Given the description of an element on the screen output the (x, y) to click on. 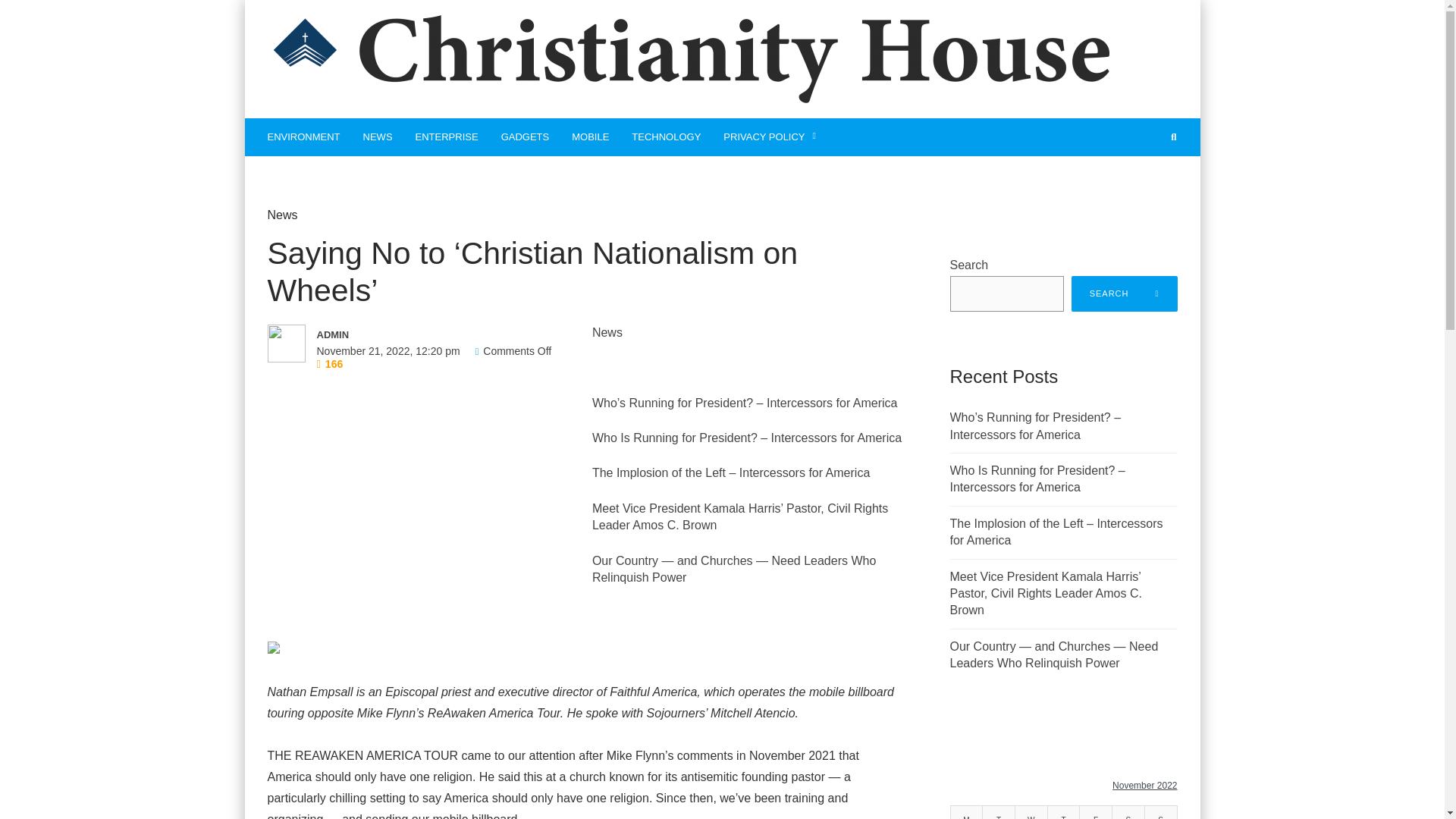
View all posts by admin (422, 334)
Views (330, 363)
Wednesday (1030, 812)
Friday (1096, 812)
Monday (966, 812)
PRIVACY POLICY (770, 136)
SEARCH (1124, 294)
Thursday (1063, 812)
Tuesday (998, 812)
ADMIN (422, 334)
NEWS (378, 136)
MOBILE (590, 136)
ENVIRONMENT (304, 136)
TECHNOLOGY (665, 136)
Saturday (1128, 812)
